Given the description of an element on the screen output the (x, y) to click on. 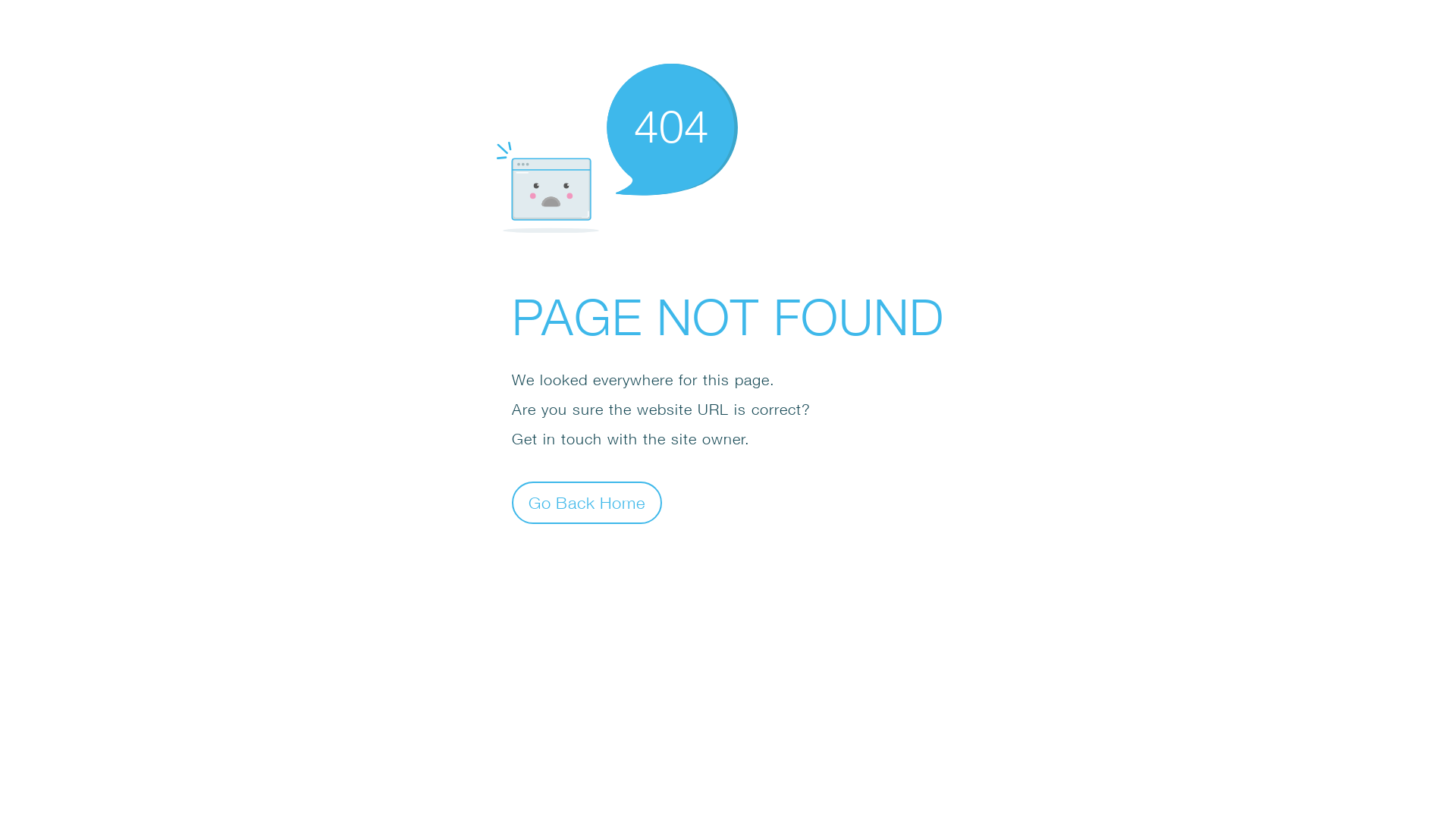
Go Back Home Element type: text (586, 502)
